Given the description of an element on the screen output the (x, y) to click on. 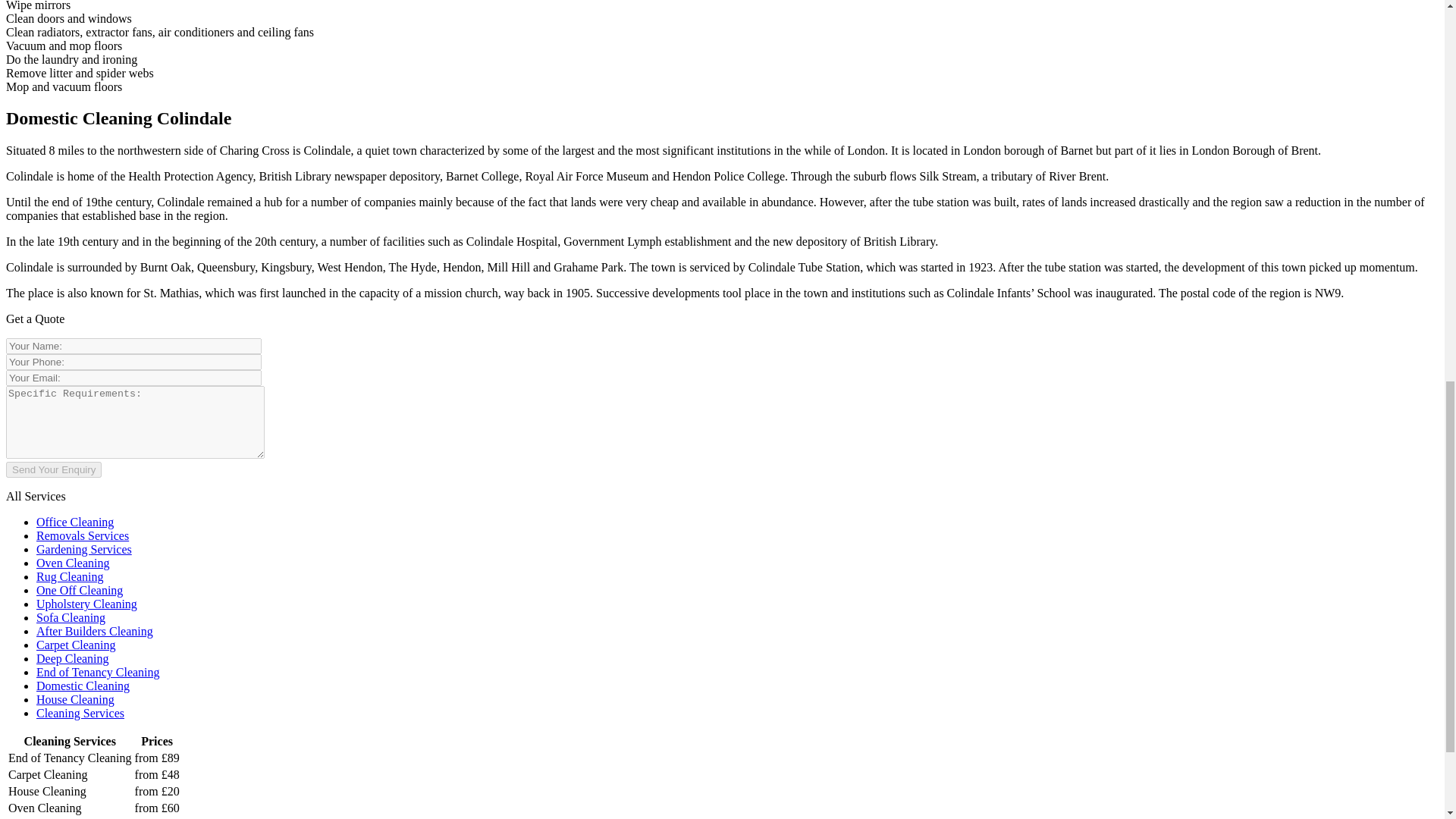
Upholstery Cleaning (86, 603)
Send Your Enquiry (53, 469)
Oven Cleaning (72, 562)
Gardening Services (84, 549)
Rug Cleaning (69, 576)
After Builders Cleaning (94, 631)
Deep Cleaning (72, 658)
Domestic Cleaning (82, 685)
Send Your Enquiry (53, 469)
Office Cleaning (74, 521)
